Given the description of an element on the screen output the (x, y) to click on. 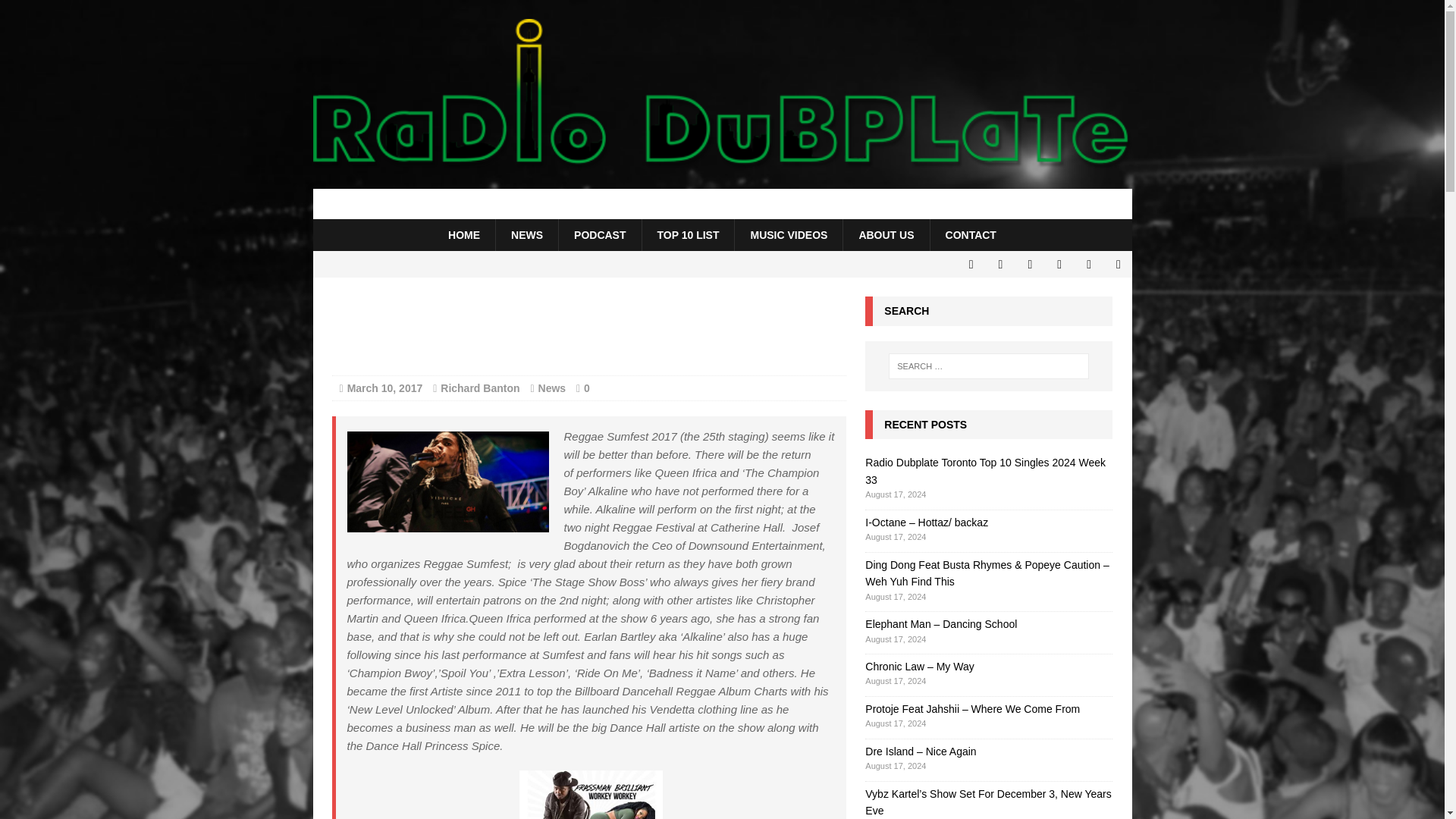
NEWS (526, 234)
CONTACT (970, 234)
MUSIC VIDEOS (788, 234)
TOP 10 LIST (688, 234)
Radio Dubplate Toronto Top 10 Singles 2024 Week 33 (984, 470)
Radio Dubplate (722, 204)
ABOUT US (885, 234)
HOME (463, 234)
March 10, 2017 (385, 387)
Richard Banton (480, 387)
